Given the description of an element on the screen output the (x, y) to click on. 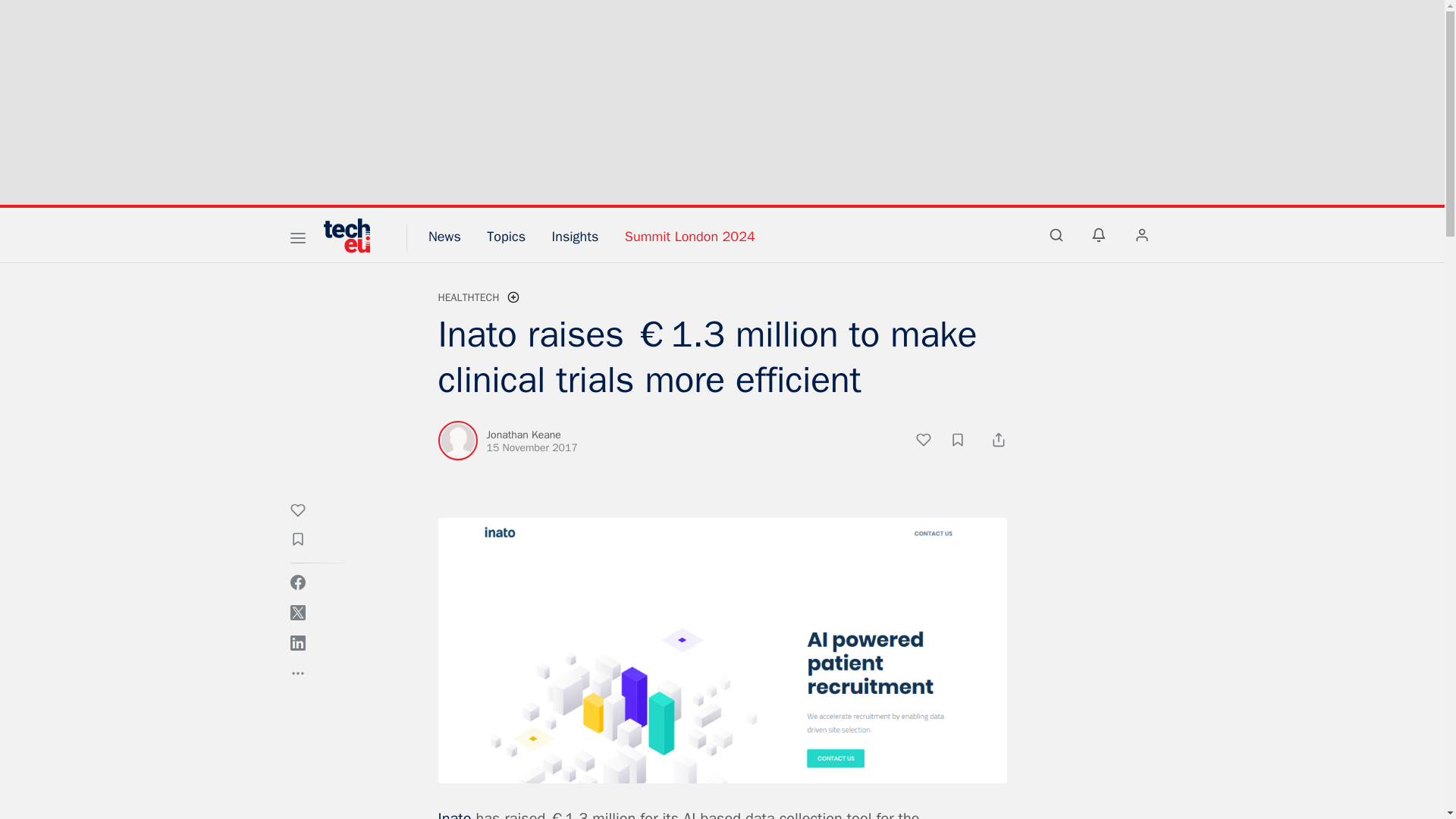
Share on Linkedin (296, 642)
Add to Collection (964, 442)
Healthtech (468, 297)
Add to collection (304, 541)
Insights (574, 236)
Like (930, 442)
Share on Twitter (296, 612)
Share on Facebook (296, 581)
Topics (505, 236)
Like (304, 512)
News (444, 236)
Summit London 2024 (689, 236)
